Given the description of an element on the screen output the (x, y) to click on. 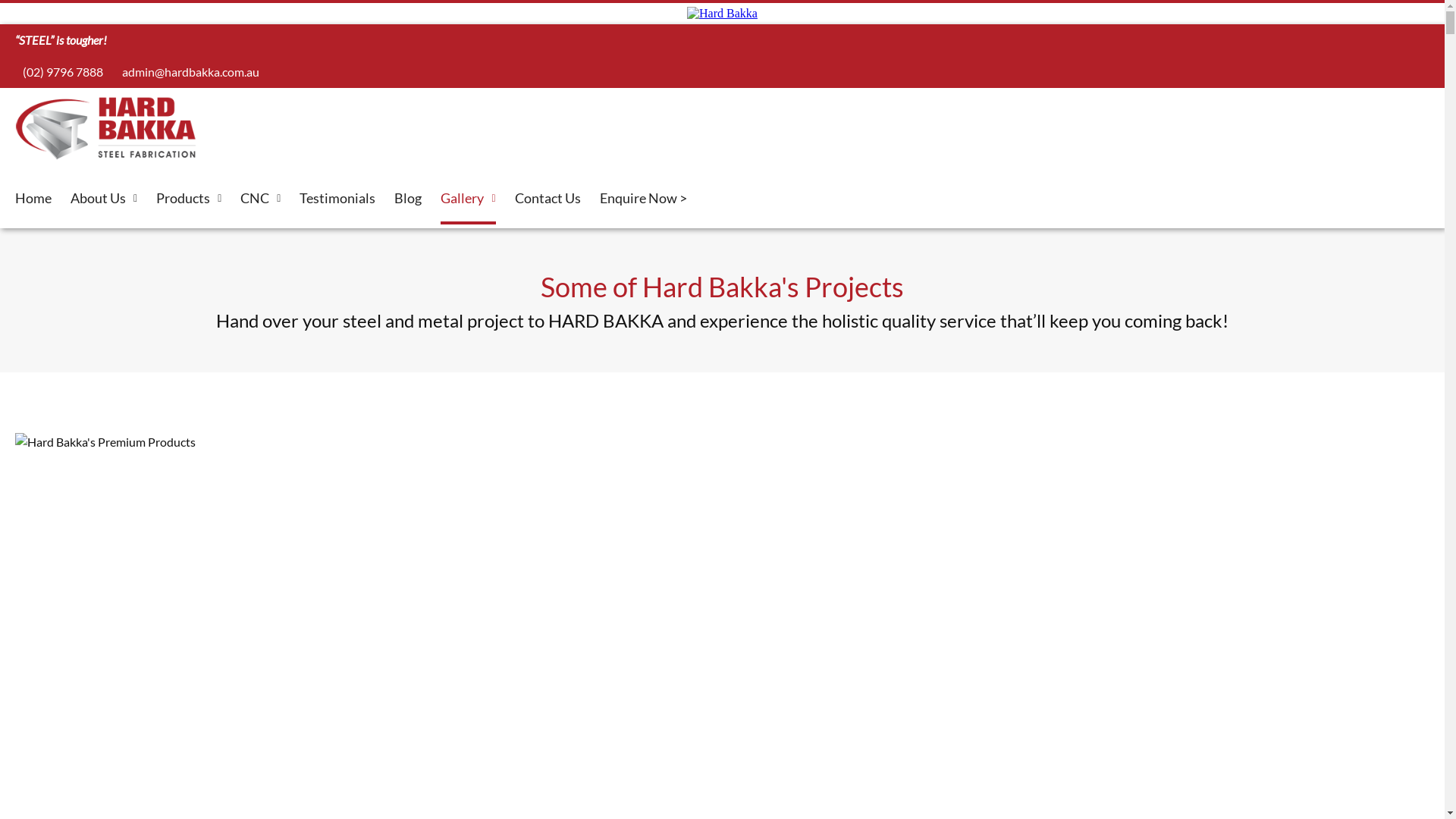
admin@hardbakka.com.au Element type: text (186, 71)
Blog Element type: text (407, 199)
Hard Bakka's Premium Products Element type: hover (722, 441)
Products Element type: text (188, 199)
Gallery Element type: text (467, 199)
(02) 9796 7888 Element type: text (59, 71)
Home Element type: text (33, 199)
Testimonials Element type: text (337, 199)
About Us Element type: text (103, 199)
CNC Element type: text (260, 199)
Contact Us Element type: text (547, 199)
Enquire Now > Element type: text (642, 199)
